Given the description of an element on the screen output the (x, y) to click on. 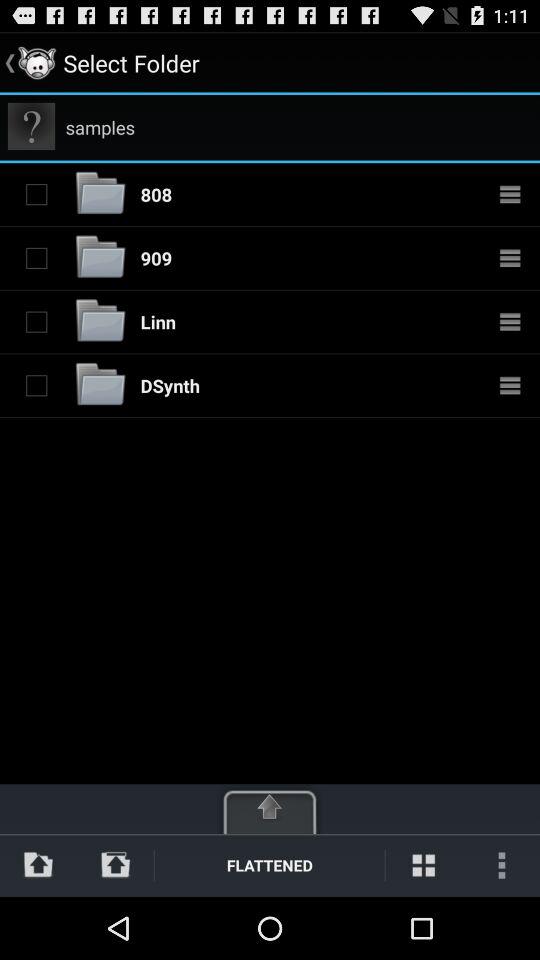
launch item below 808 (156, 257)
